Given the description of an element on the screen output the (x, y) to click on. 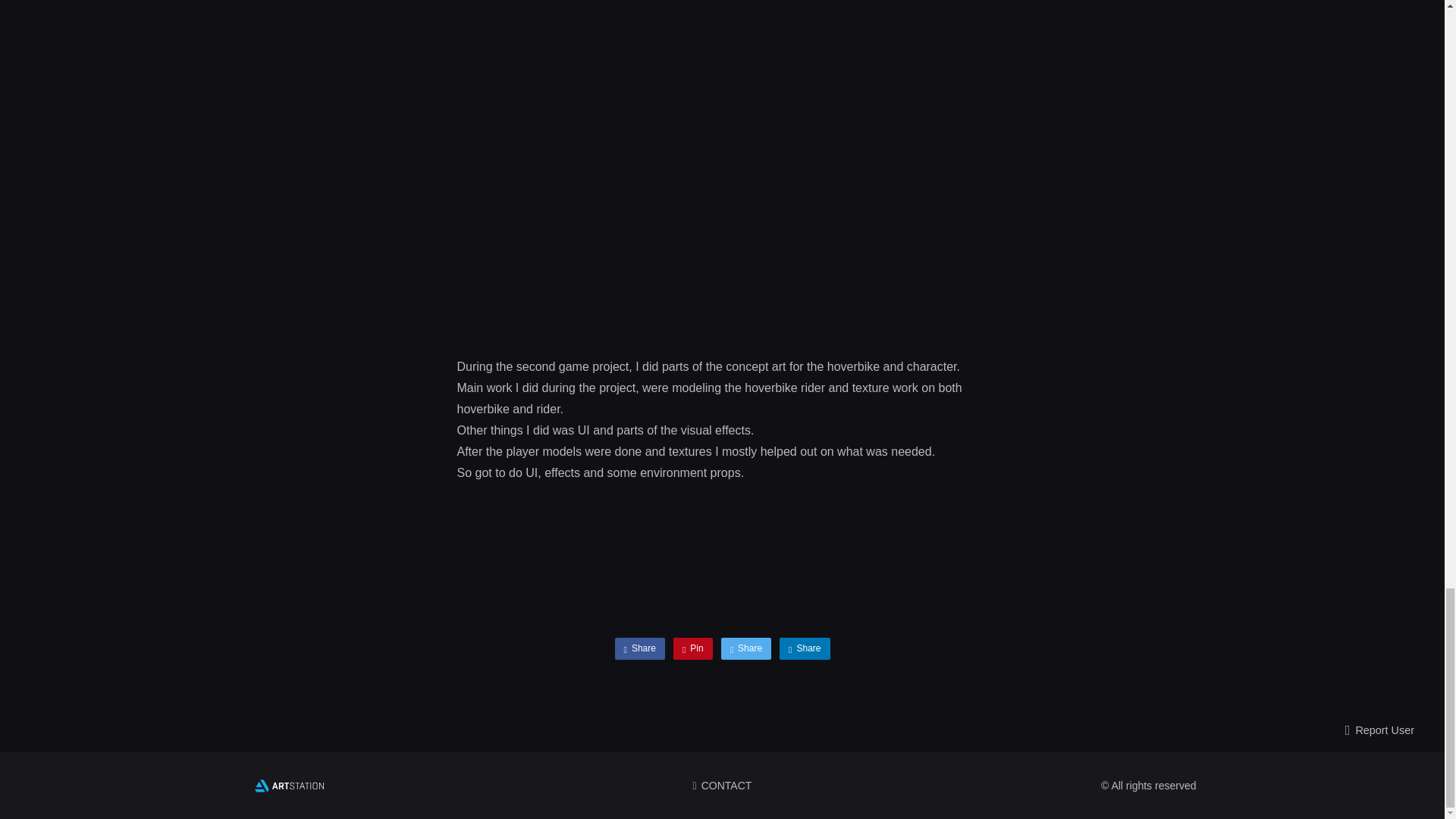
Share (745, 648)
Pin (692, 648)
Share (638, 648)
Share (803, 648)
CONTACT (722, 785)
Report User (1379, 730)
